Given the description of an element on the screen output the (x, y) to click on. 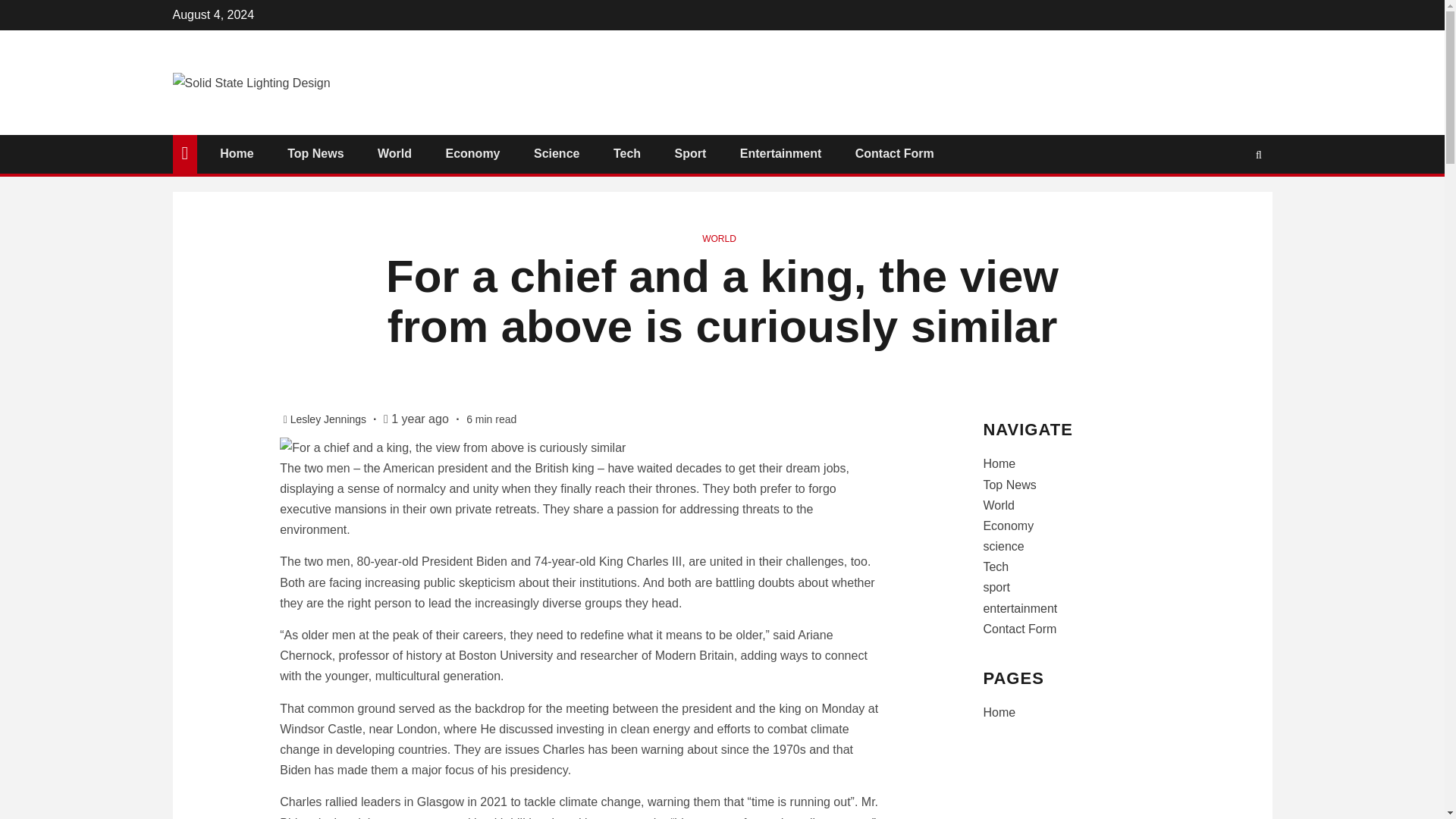
WORLD (718, 238)
Tech (626, 153)
Economy (472, 153)
Search (1229, 199)
Entertainment (780, 153)
World (394, 153)
Home (236, 153)
Top News (314, 153)
Sport (690, 153)
Science (556, 153)
Lesley Jennings (329, 419)
Search (1258, 154)
Contact Form (895, 153)
